Given the description of an element on the screen output the (x, y) to click on. 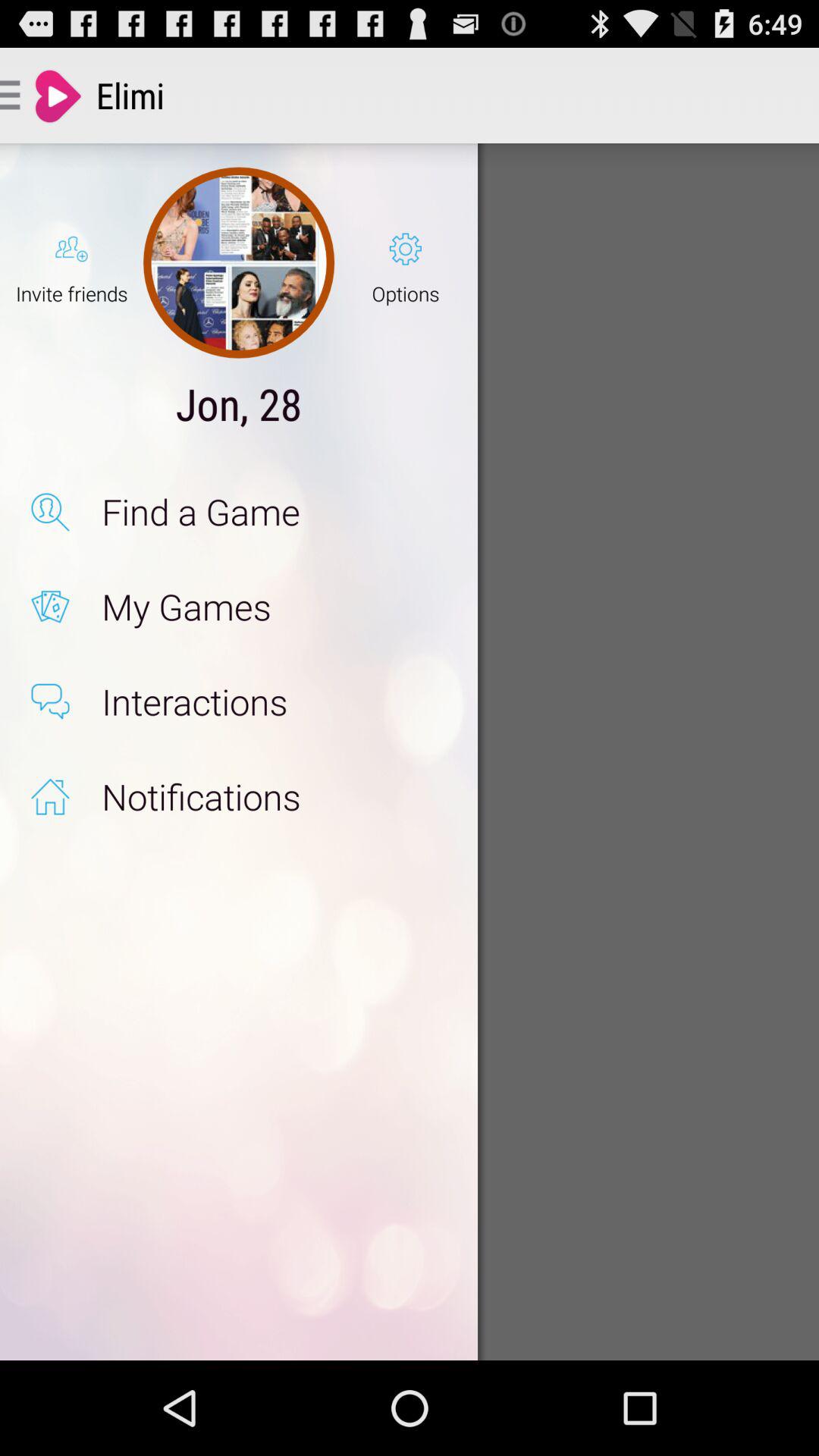
launch the interactions (273, 701)
